Given the description of an element on the screen output the (x, y) to click on. 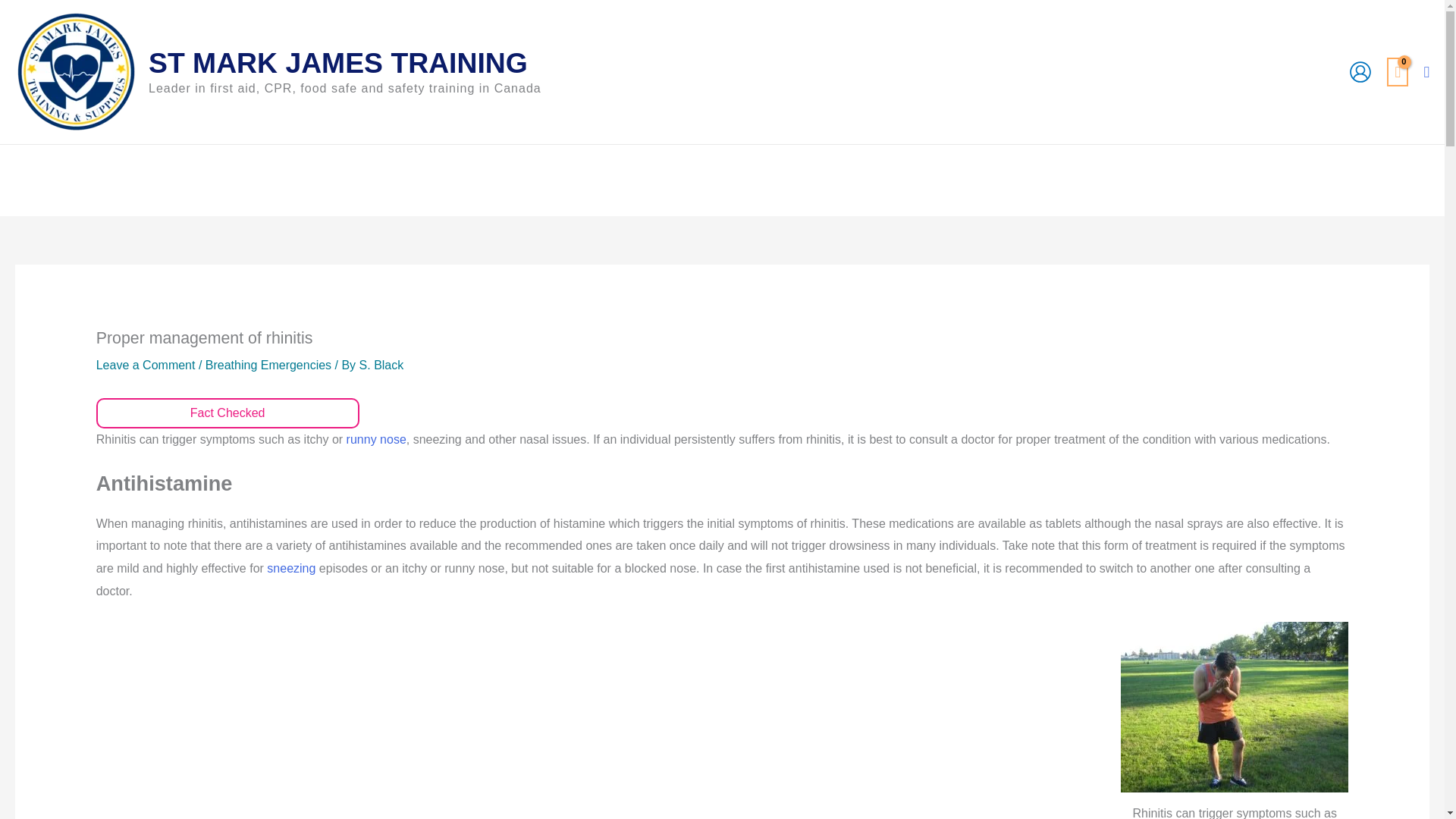
Account (806, 180)
On-Line Courses (897, 180)
Locations (730, 180)
Checkout (649, 180)
ST MARK JAMES TRAINING (337, 62)
Courses (479, 180)
